Given the description of an element on the screen output the (x, y) to click on. 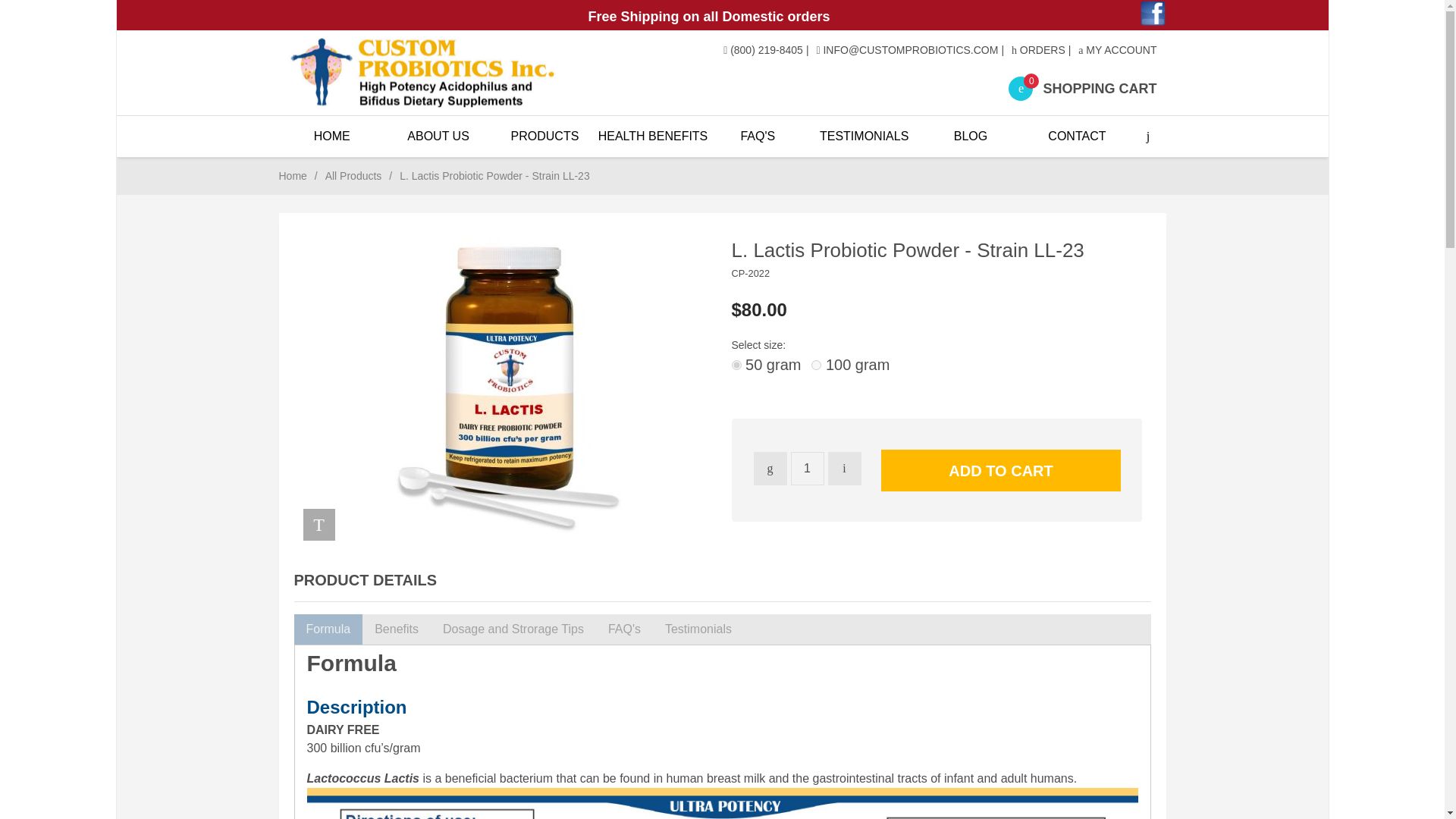
50 gram (765, 363)
1 (807, 468)
All Products (352, 175)
ORDERS (1038, 50)
Select size: (758, 344)
MY ACCOUNT (1117, 50)
HOME (332, 136)
100 gram (849, 363)
ABOUT US (438, 136)
Email (909, 50)
